Given the description of an element on the screen output the (x, y) to click on. 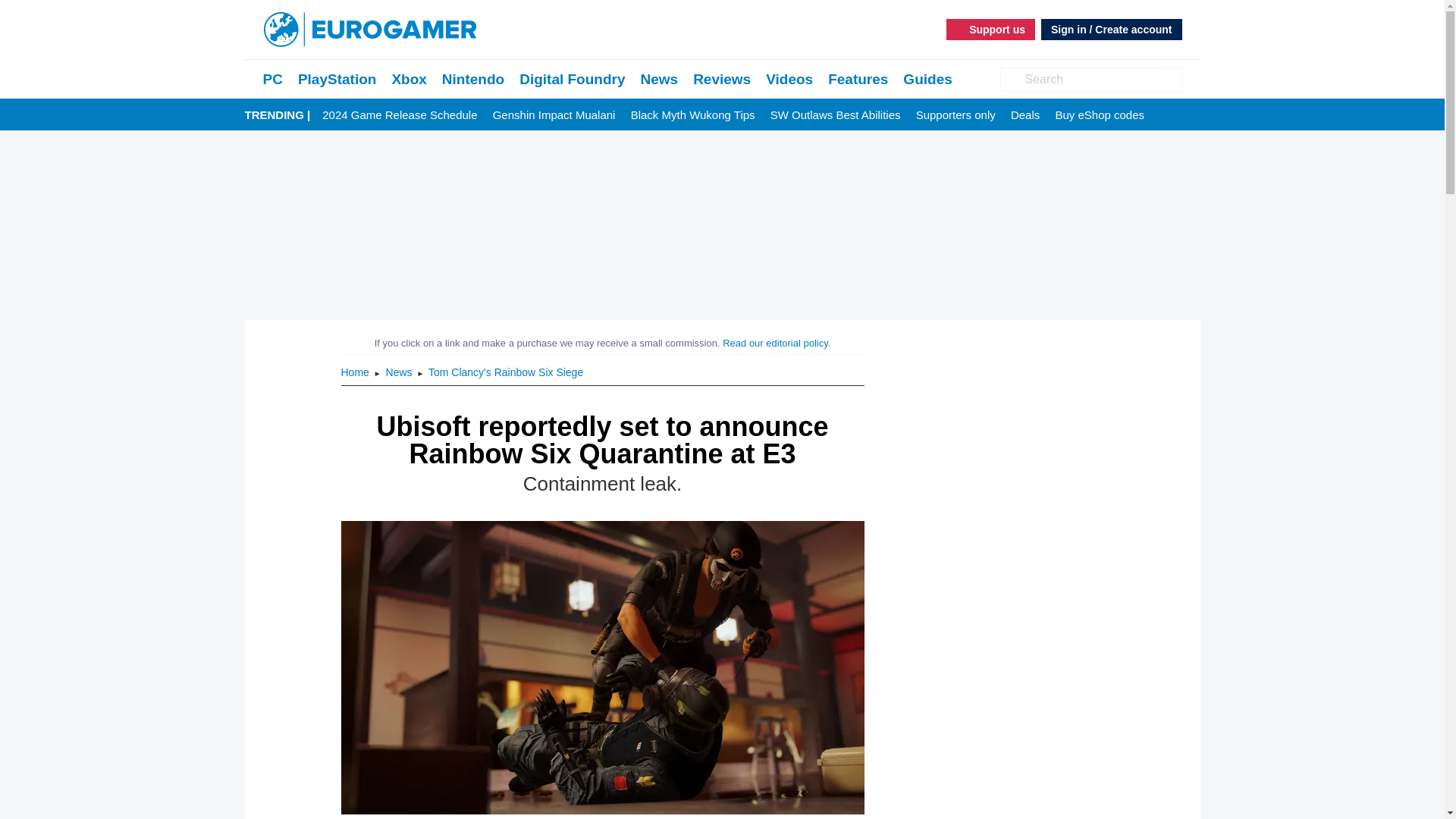
Reviews (722, 78)
SW Outlaws Best Abilities (835, 114)
Nintendo (472, 78)
Black Myth Wukong Tips (692, 114)
Buy eShop codes (1099, 114)
SW Outlaws Best Abilities (835, 114)
Black Myth Wukong Tips (692, 114)
Xbox (408, 78)
News (399, 372)
Reviews (722, 78)
